Given the description of an element on the screen output the (x, y) to click on. 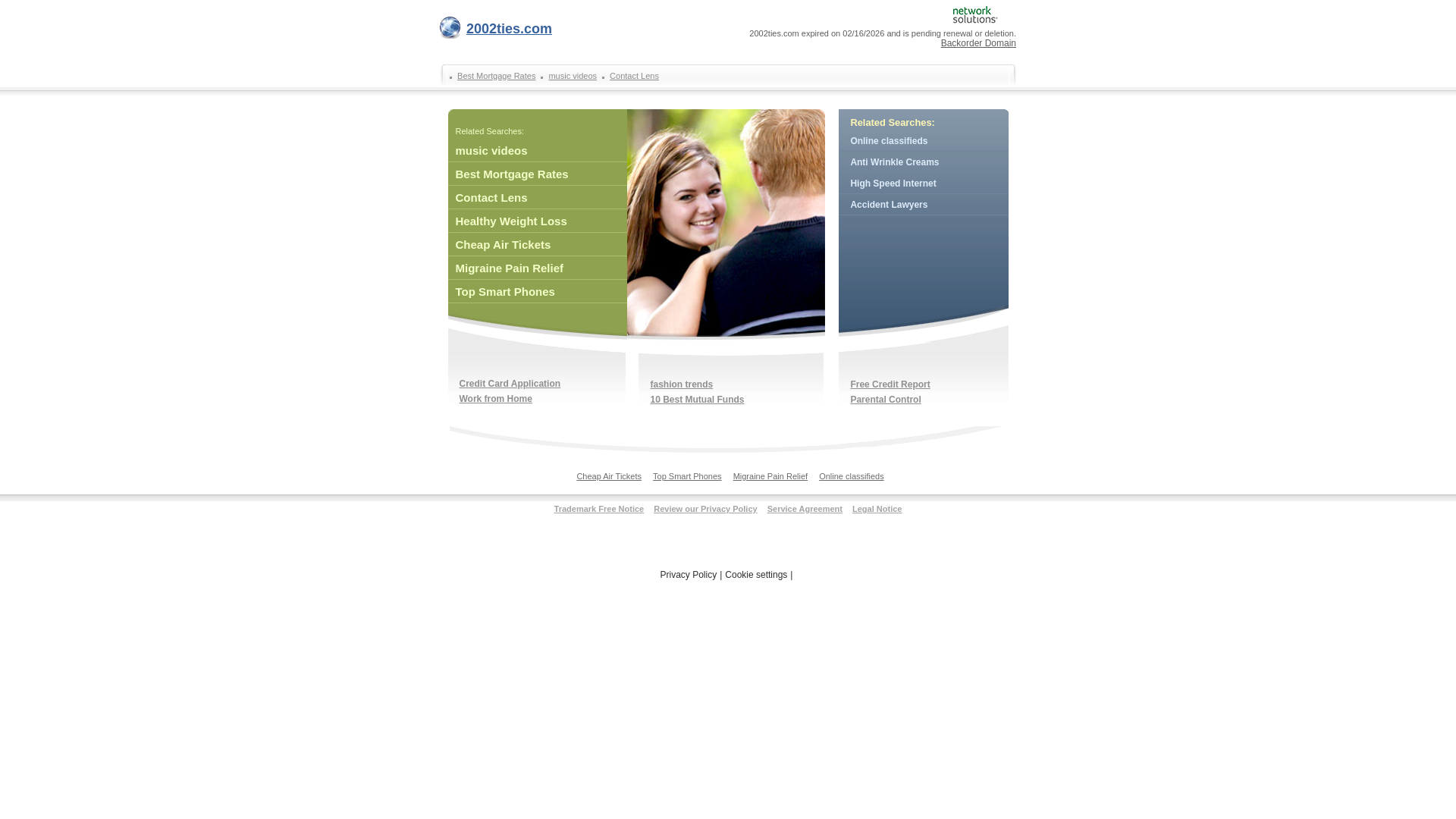
Trademark Free Notice Element type: text (599, 508)
Online classifieds Element type: text (851, 479)
Contact Lens Element type: text (536, 197)
image1 Element type: hover (725, 224)
Anti Wrinkle Creams Element type: text (922, 162)
Contact Lens Element type: text (632, 75)
Parental Control Element type: text (885, 399)
Top Smart Phones Element type: text (536, 291)
Credit Card Application Element type: text (510, 382)
Best Mortgage Rates Element type: text (536, 174)
Cookie settings Element type: text (755, 574)
Backorder Domain Element type: text (978, 42)
High Speed Internet Element type: text (922, 183)
Best Mortgage Rates Element type: text (493, 75)
Free Credit Report Element type: text (890, 384)
Legal Notice Element type: text (876, 508)
Service Agreement Element type: text (804, 508)
10 Best Mutual Funds Element type: text (697, 399)
Cheap Air Tickets Element type: text (608, 479)
Healthy Weight Loss Element type: text (536, 221)
fashion trends Element type: text (682, 384)
Privacy Policy Element type: text (687, 574)
music videos Element type: text (569, 75)
Migraine Pain Relief Element type: text (536, 268)
Review our Privacy Policy Element type: text (704, 508)
Cheap Air Tickets Element type: text (536, 244)
Migraine Pain Relief Element type: text (770, 479)
Accident Lawyers Element type: text (922, 204)
2002ties.com Element type: text (495, 31)
Work from Home Element type: text (496, 397)
Online classifieds Element type: text (922, 141)
music videos Element type: text (536, 150)
Top Smart Phones Element type: text (687, 479)
